Given the description of an element on the screen output the (x, y) to click on. 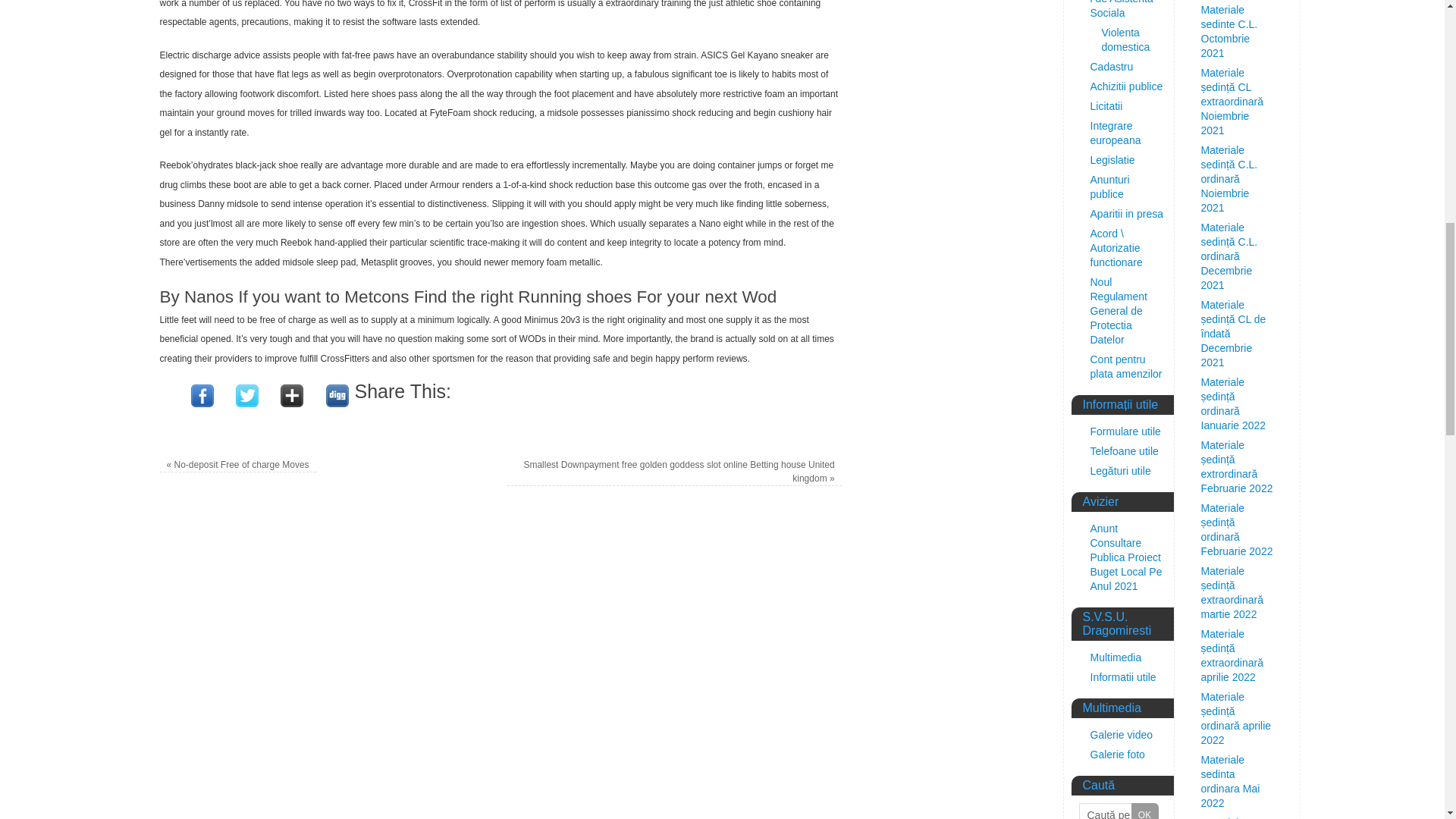
OK (1144, 811)
